Given the description of an element on the screen output the (x, y) to click on. 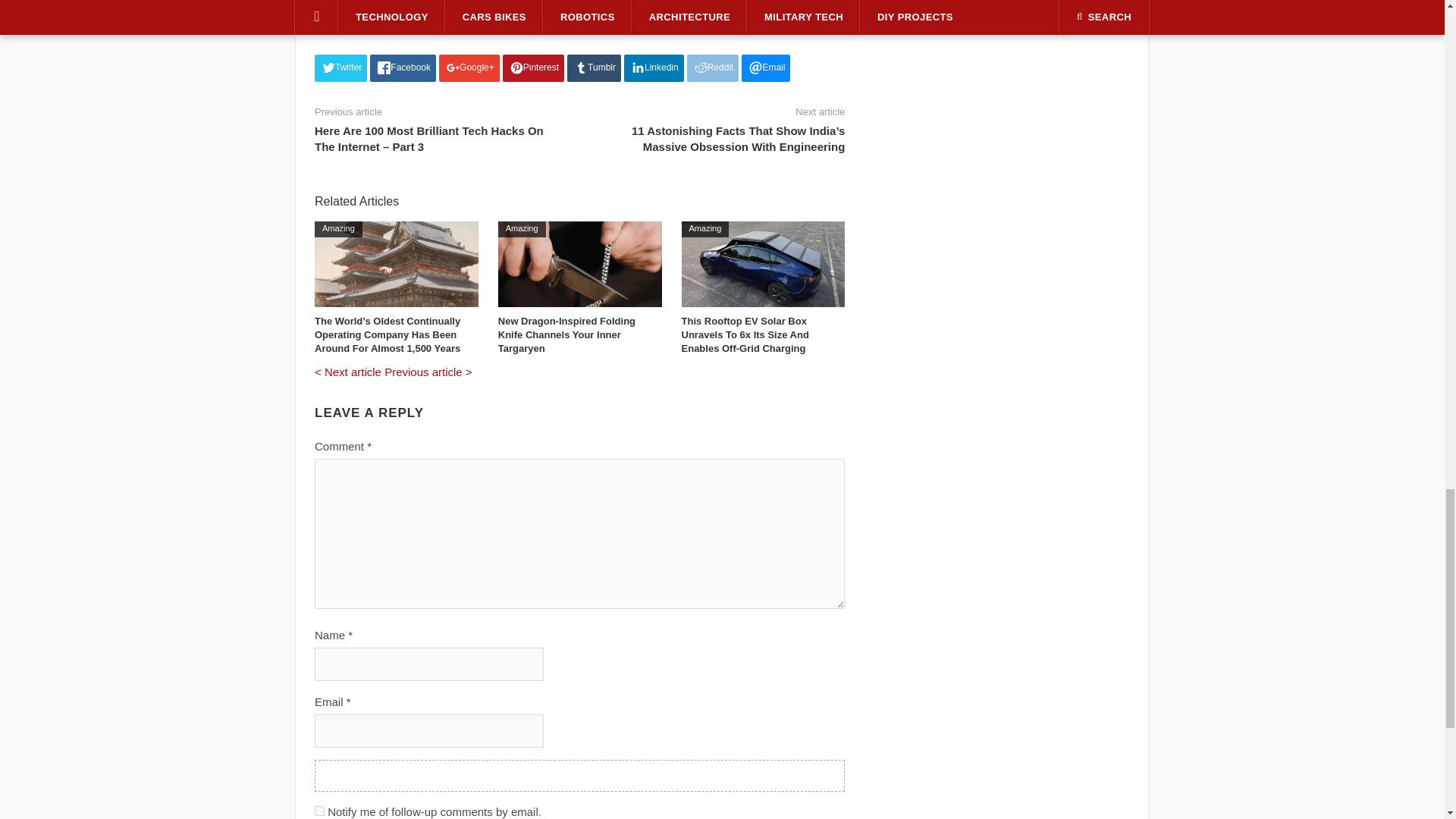
Email (765, 67)
Facebook (402, 67)
Pinterest (533, 67)
Reddit (713, 67)
Twitter (340, 67)
Linkedin (654, 67)
subscribe (319, 810)
Tumblr (594, 67)
